Given the description of an element on the screen output the (x, y) to click on. 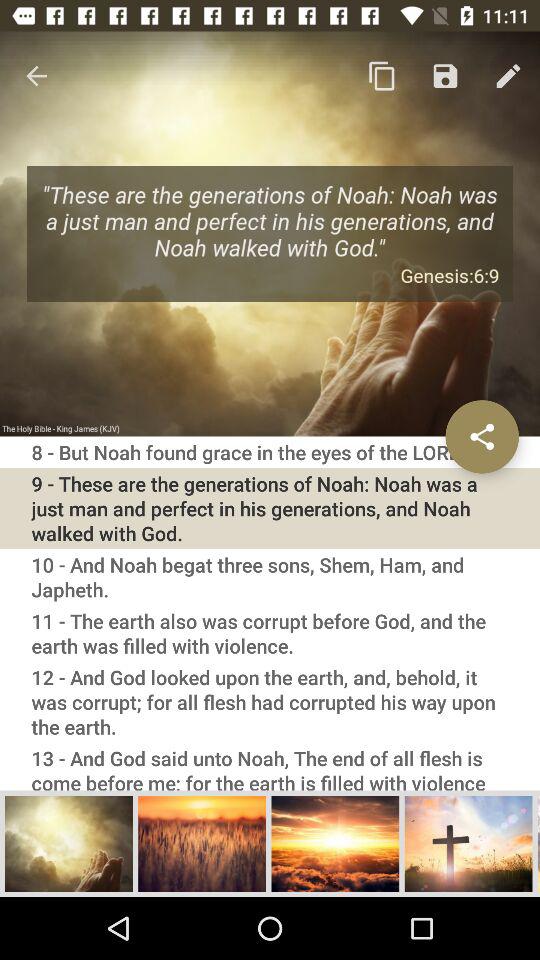
open the 8 but noah icon (270, 452)
